Given the description of an element on the screen output the (x, y) to click on. 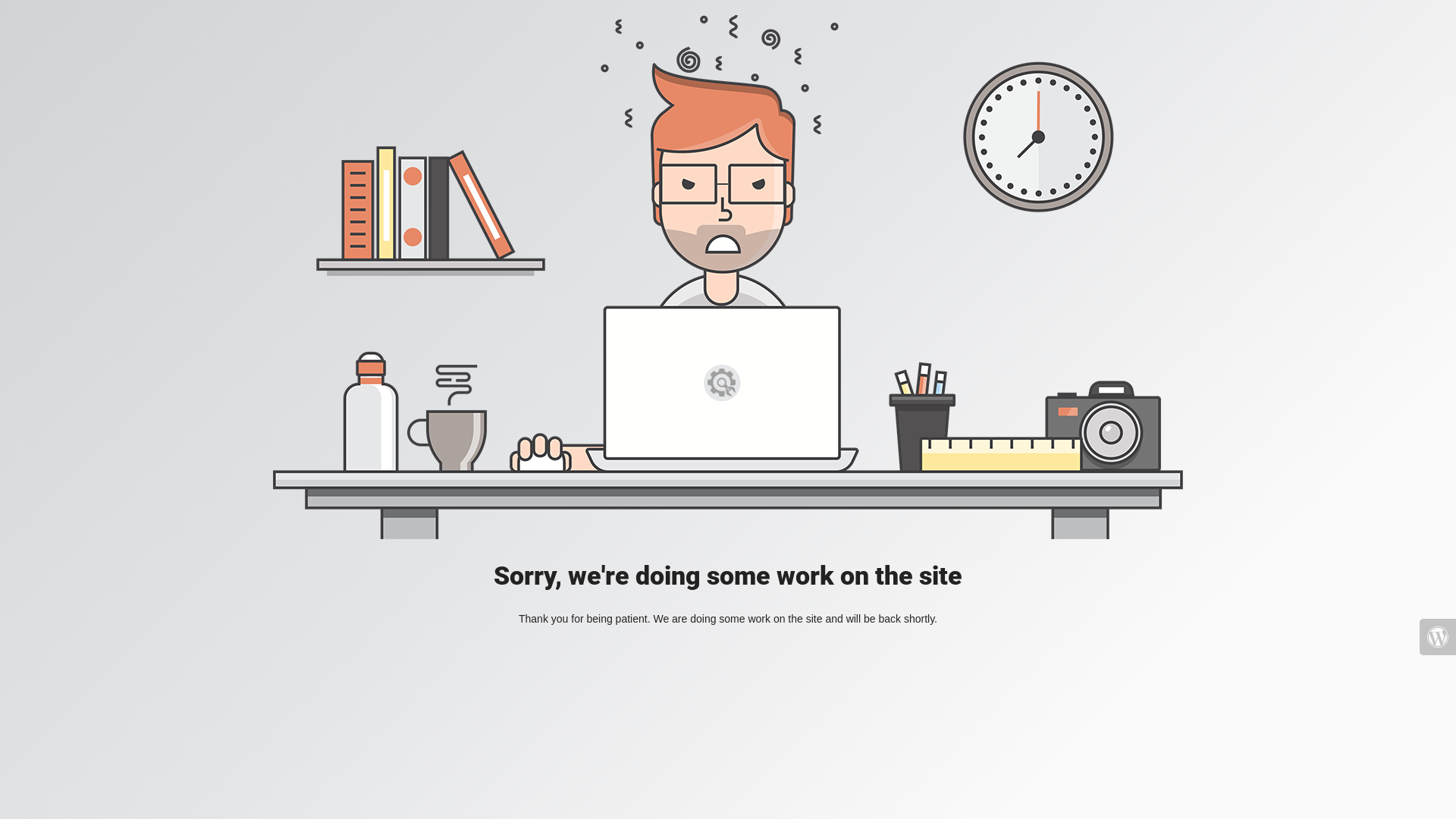
Mad Designer at work Element type: hover (728, 277)
